Given the description of an element on the screen output the (x, y) to click on. 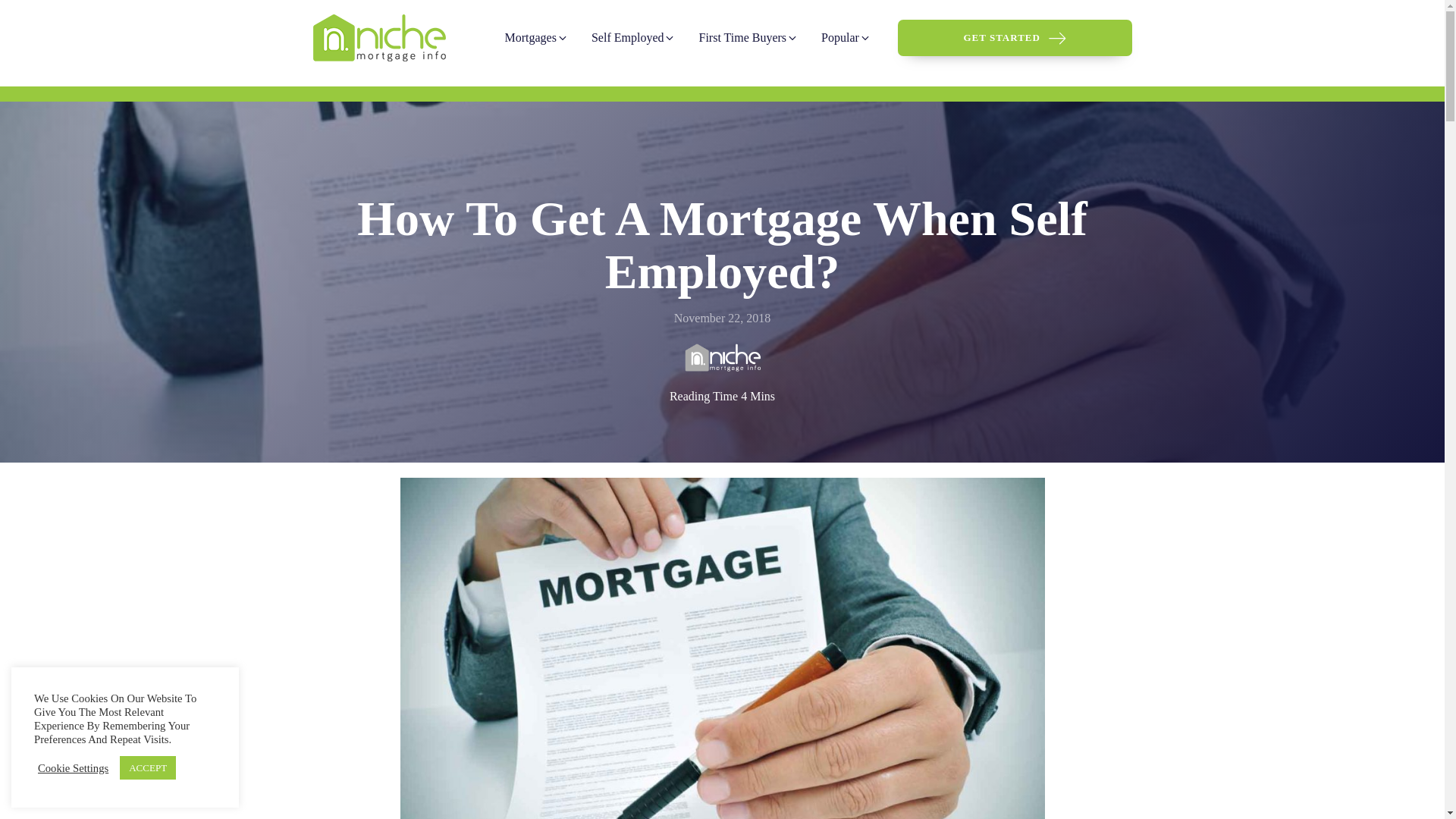
Self Employed (633, 37)
Mortgages (536, 37)
First Time Buyers (748, 37)
Popular (845, 37)
